Given the description of an element on the screen output the (x, y) to click on. 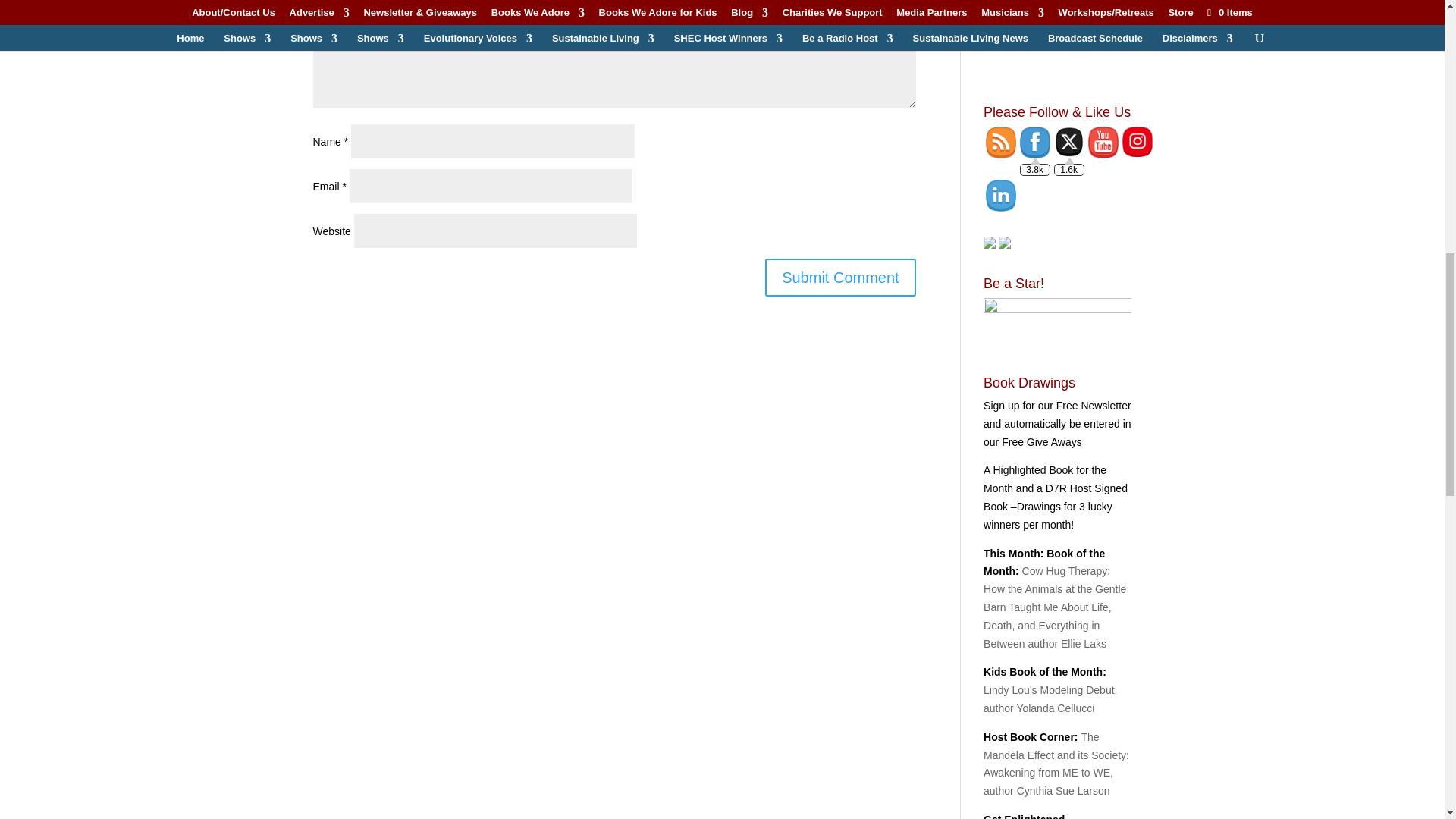
Submit Comment (840, 277)
RSS (1000, 142)
Youtube (1102, 142)
Twitter (1069, 141)
Facebook (1034, 142)
